Given the description of an element on the screen output the (x, y) to click on. 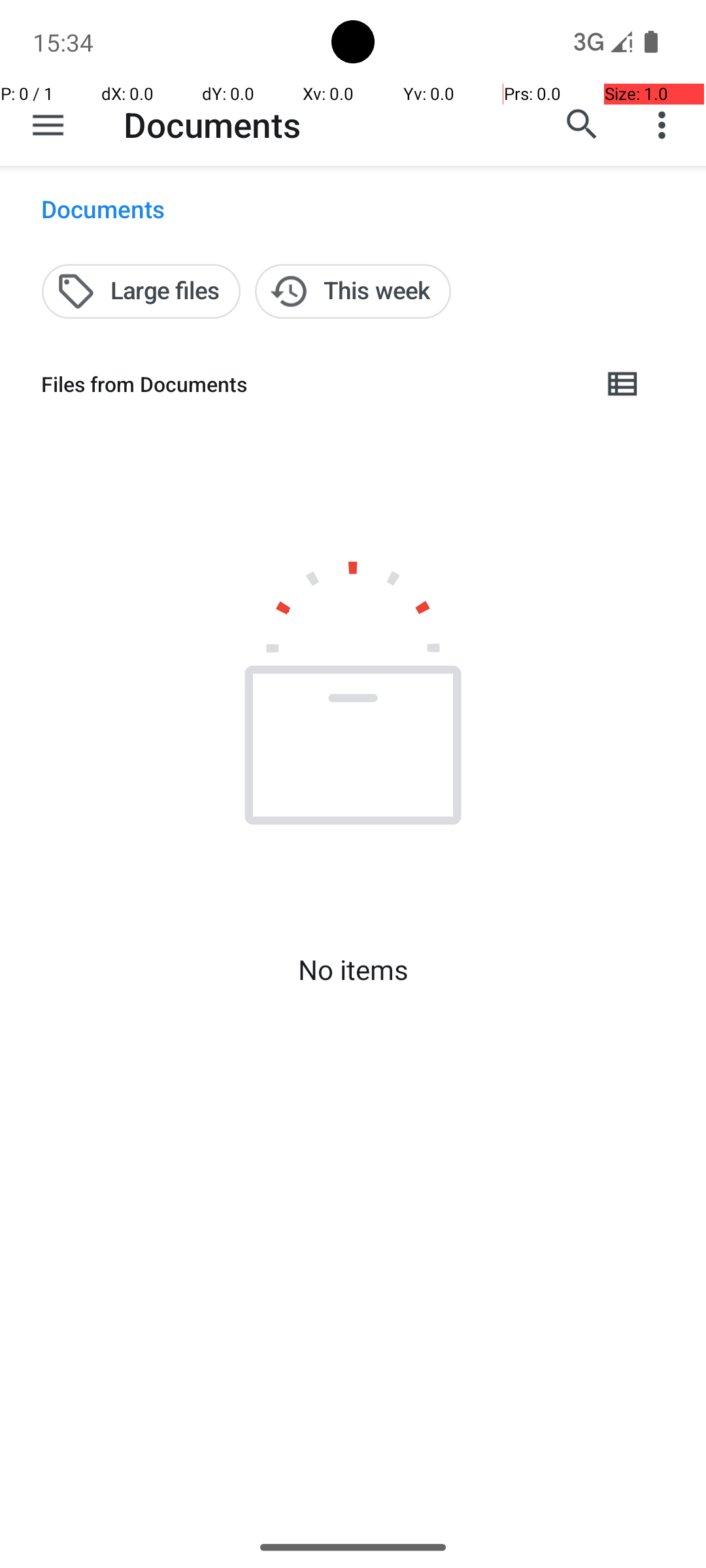
Show roots Element type: android.widget.ImageButton (48, 124)
Documents Element type: android.widget.TextView (211, 124)
Files from Documents Element type: android.widget.TextView (311, 383)
List view Element type: android.widget.TextView (622, 384)
Large files Element type: android.widget.CompoundButton (140, 291)
This week Element type: android.widget.CompoundButton (352, 291)
No items Element type: android.widget.TextView (352, 968)
